Given the description of an element on the screen output the (x, y) to click on. 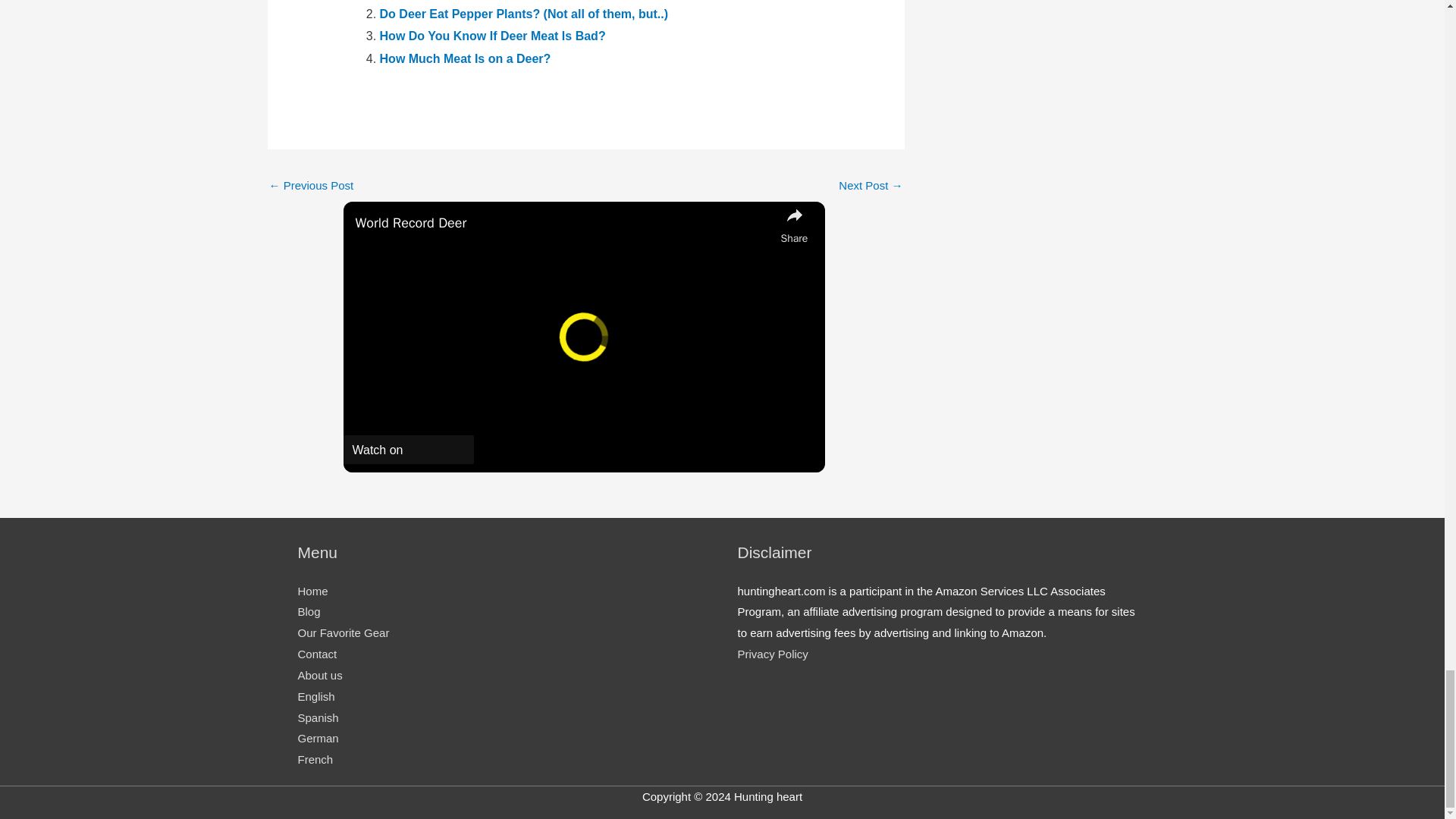
How Much Meat Is on a Deer? (465, 58)
Best Hunting Belt: A Review of 10 Hunting Belts (870, 186)
How Much Meat Is on a Deer? (465, 58)
How Do You Know If Deer Meat Is Bad? (492, 35)
How Do You Know If Deer Meat Is Bad? (492, 35)
Kimber 84m Hunter Review (310, 186)
